Given the description of an element on the screen output the (x, y) to click on. 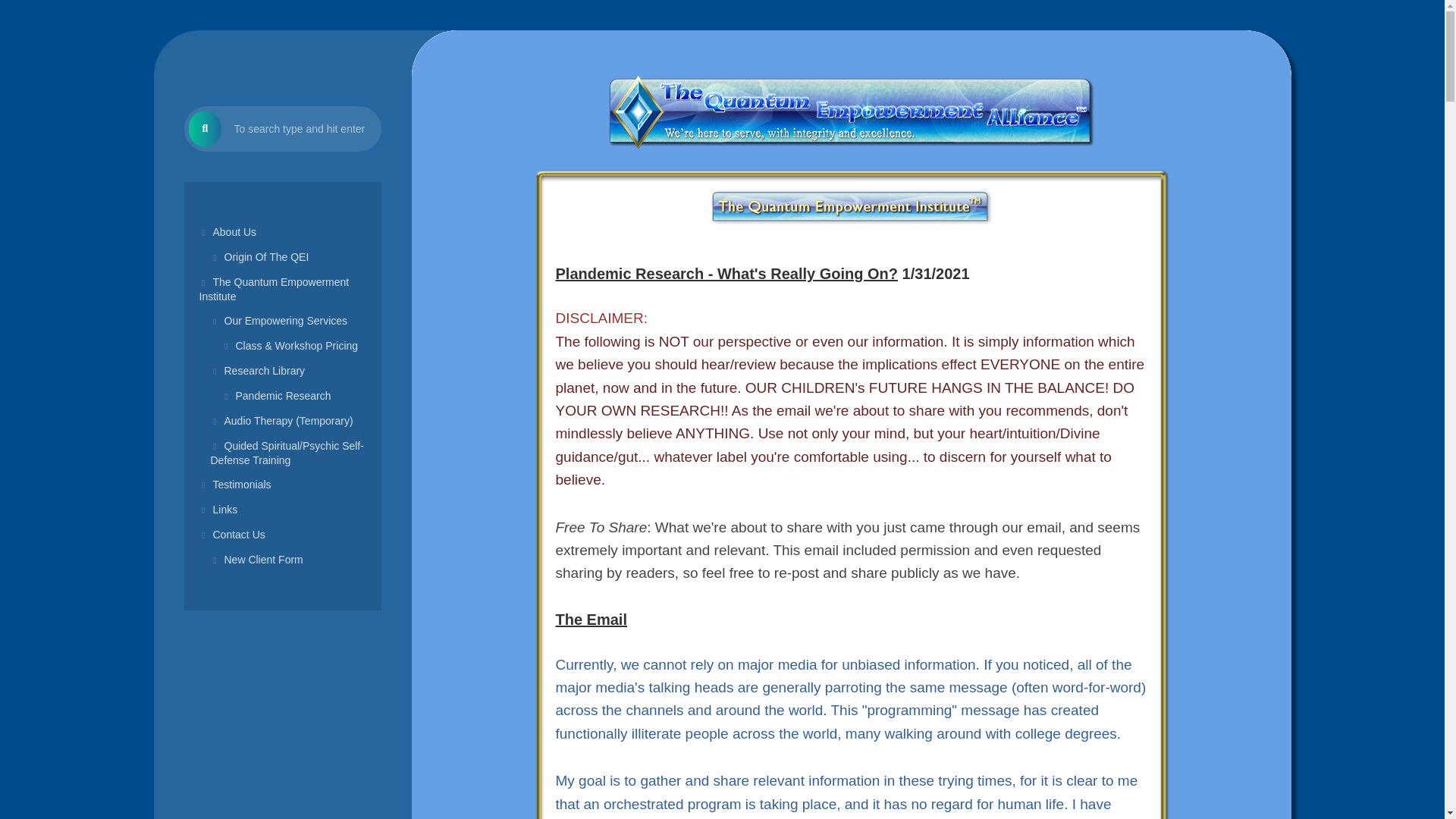
To search type and hit enter (281, 128)
Links (281, 509)
Research Library (281, 371)
Testimonials (281, 484)
About Us (281, 232)
Our Empowering Services (281, 320)
The Quantum Empowerment Institute (281, 289)
Pandemic Research (281, 396)
Contact Us (281, 534)
Origin Of The QEI (281, 257)
New Client Form (281, 559)
To search type and hit enter (281, 128)
